Given the description of an element on the screen output the (x, y) to click on. 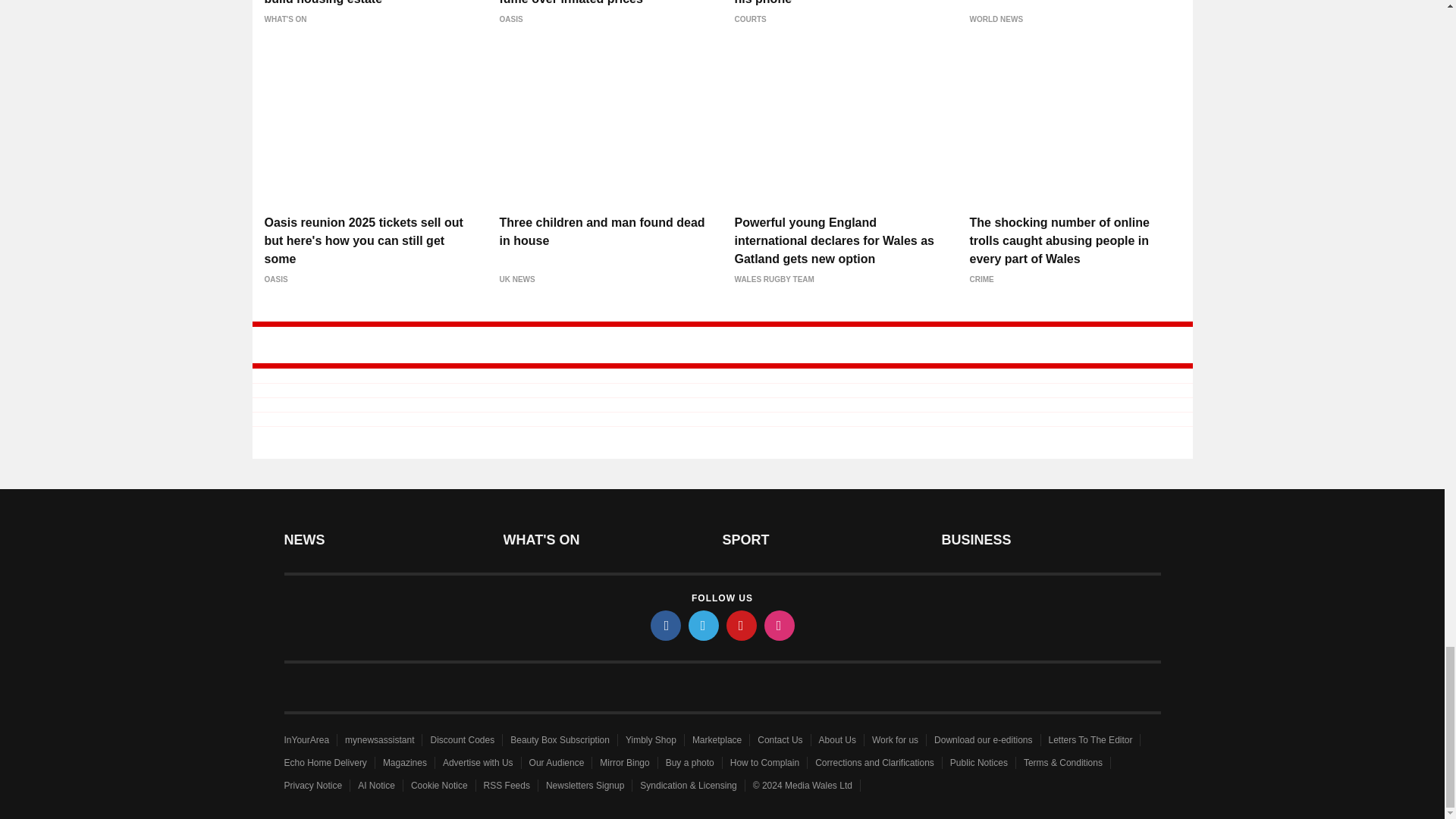
twitter (703, 625)
instagram (779, 625)
pinterest (741, 625)
facebook (665, 625)
